Given the description of an element on the screen output the (x, y) to click on. 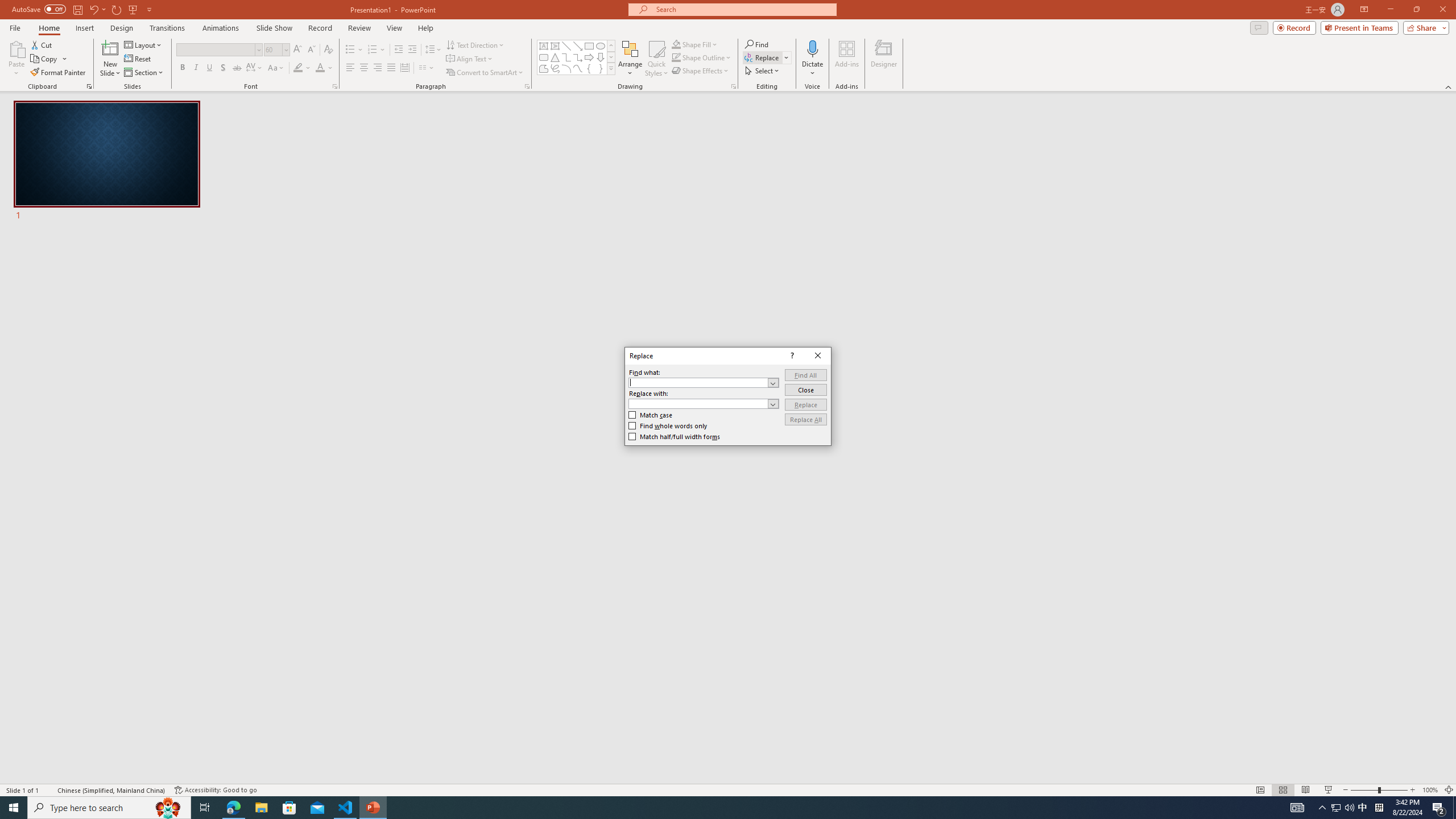
Zoom 100% (1430, 790)
Find whole words only (667, 425)
Spell Check  (49, 790)
Align Right (377, 67)
Change Case (276, 67)
PowerPoint - 1 running window (373, 807)
Replace (805, 404)
Accessibility Checker Accessibility: Good to go (216, 790)
Text Box (543, 45)
